Given the description of an element on the screen output the (x, y) to click on. 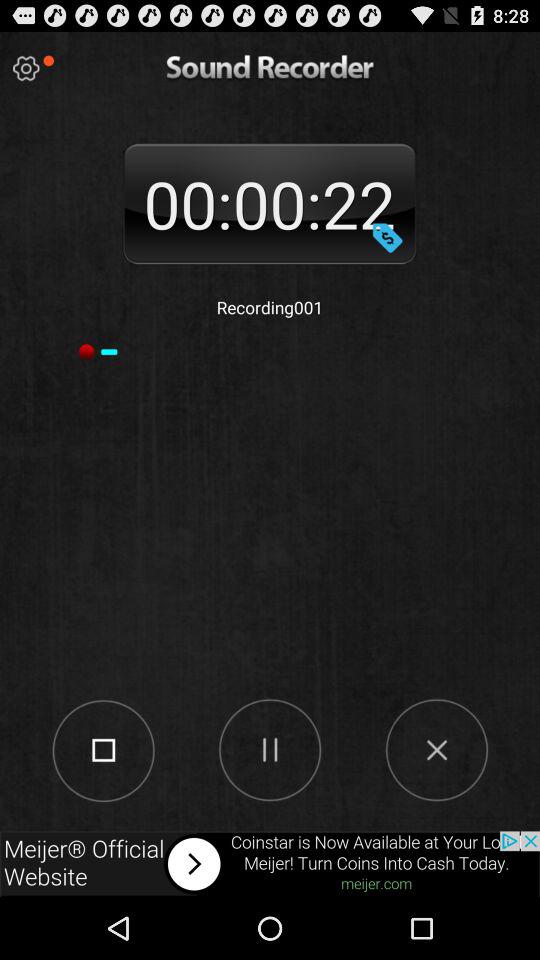
toggle the record option (102, 749)
